Given the description of an element on the screen output the (x, y) to click on. 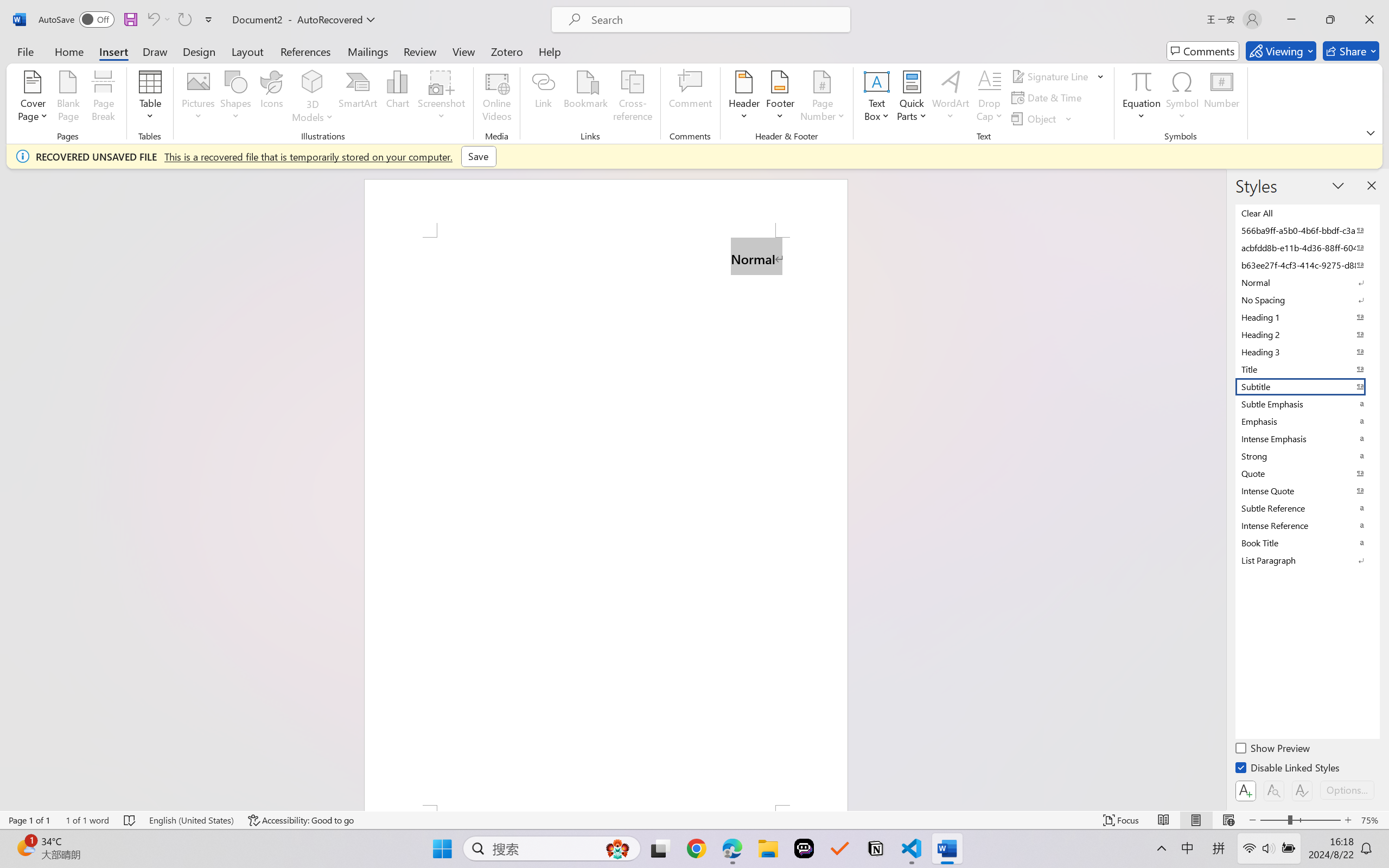
Cross-reference... (632, 97)
Page Break (103, 97)
Title (1306, 369)
Microsoft search (715, 19)
Shapes (235, 97)
Comment (689, 97)
Blank Page (67, 97)
Page 1 content (605, 521)
Page Number Page 1 of 1 (29, 819)
